Given the description of an element on the screen output the (x, y) to click on. 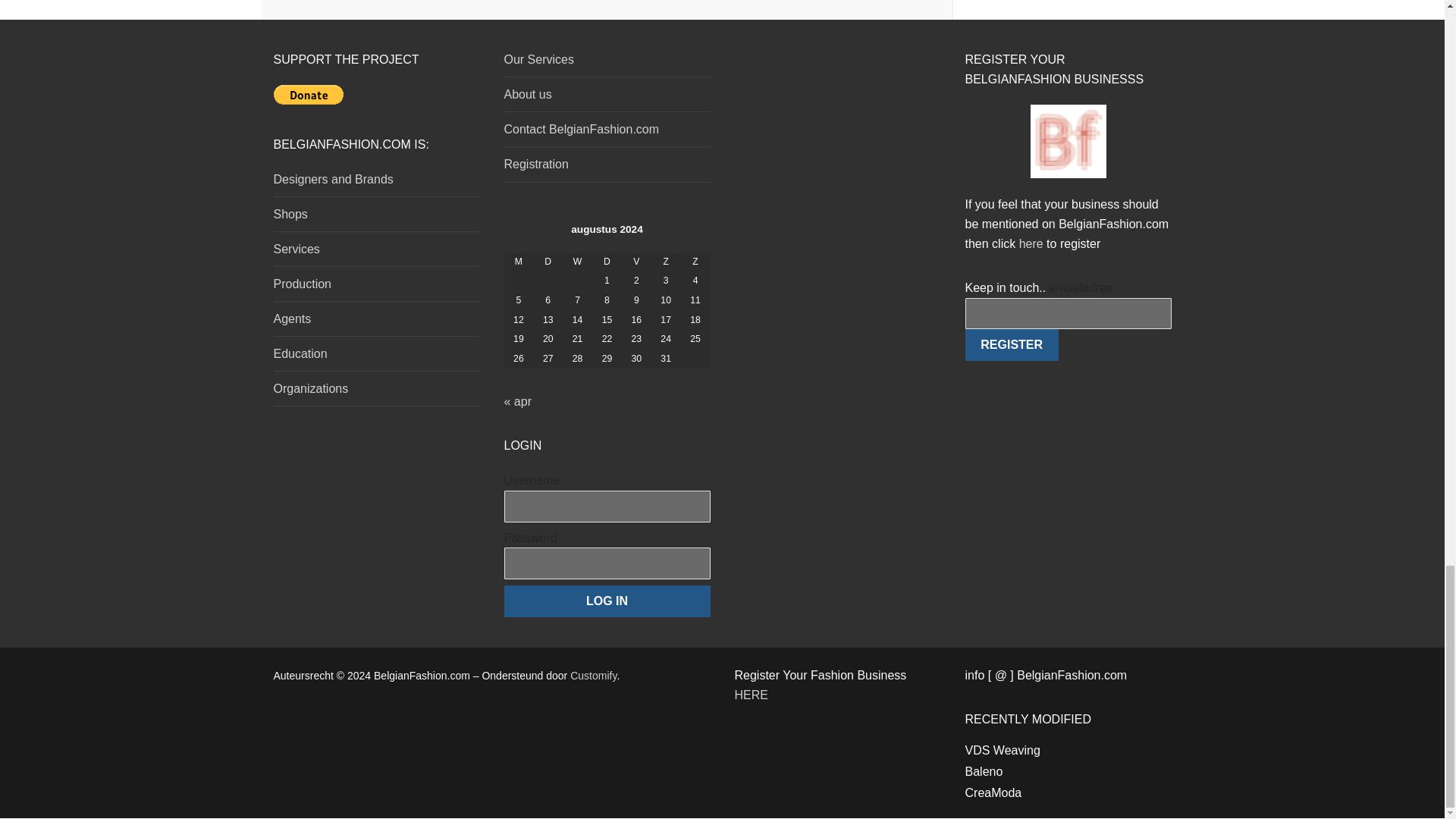
Register (1010, 345)
